Given the description of an element on the screen output the (x, y) to click on. 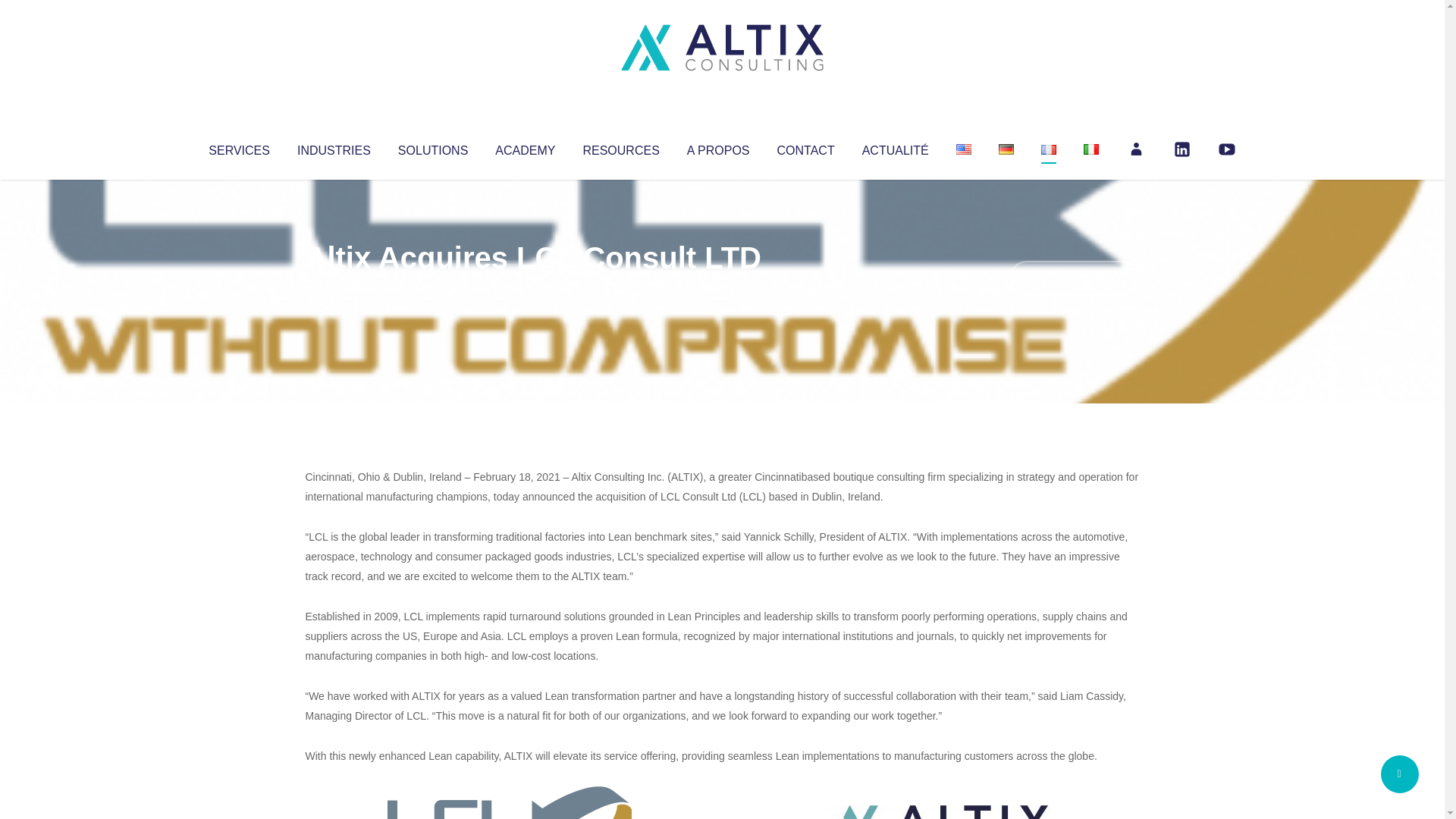
RESOURCES (620, 146)
SOLUTIONS (432, 146)
INDUSTRIES (334, 146)
A PROPOS (718, 146)
Altix (333, 287)
SERVICES (238, 146)
Articles par Altix (333, 287)
ACADEMY (524, 146)
No Comments (1073, 278)
Uncategorized (530, 287)
